Given the description of an element on the screen output the (x, y) to click on. 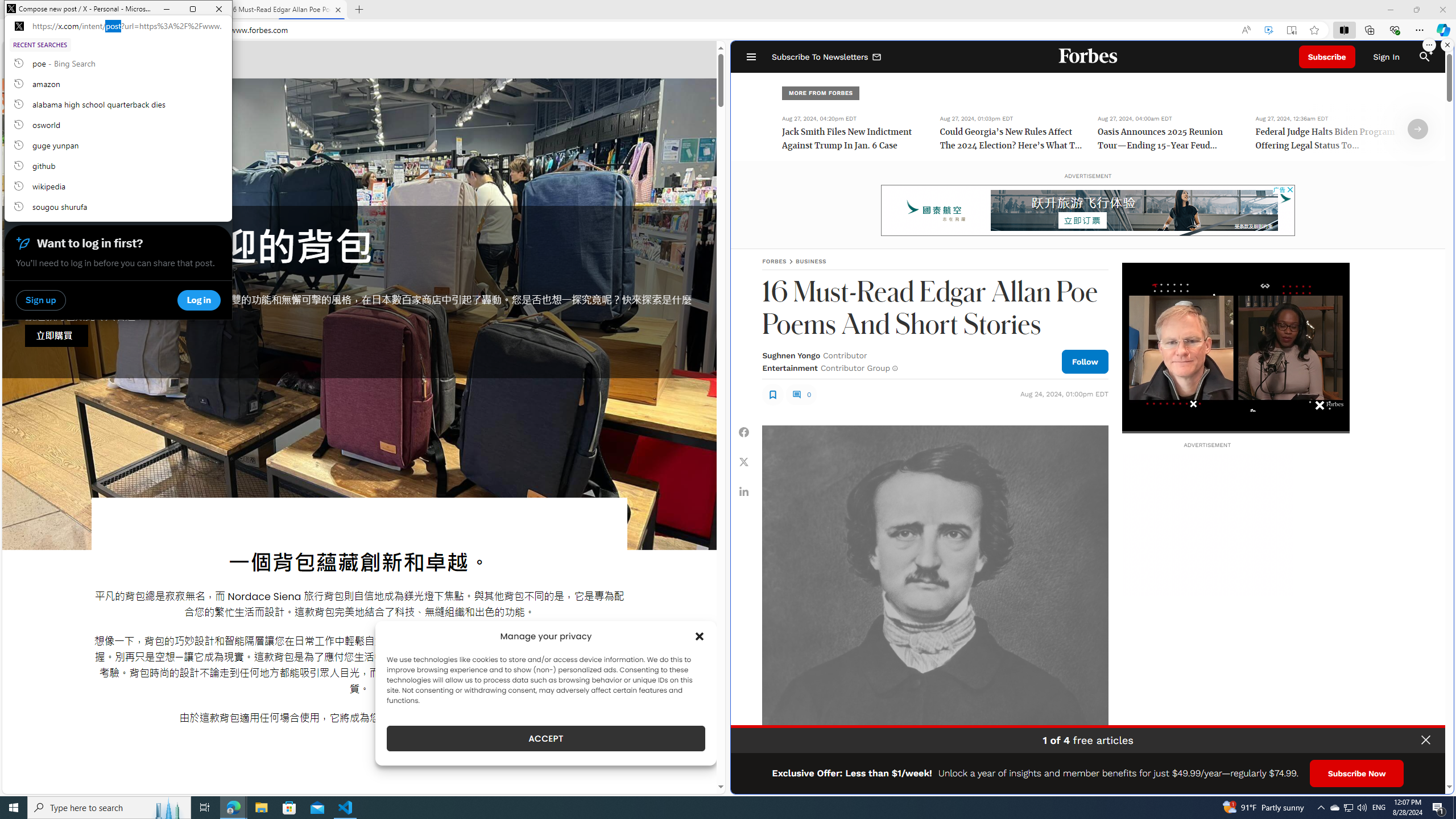
Class: close-button unbutton (1425, 740)
Show desktop (1454, 807)
Running applications (1333, 807)
Terms (706, 807)
Forbes Logo (1434, 781)
Subscribe (1088, 56)
Sughnen Yongo (1326, 56)
Action Center, 1 new notification (790, 354)
guge yunpan, recent searches from history (1439, 807)
Class: article-sharing__item (117, 145)
Subscribe Now (743, 490)
